Given the description of an element on the screen output the (x, y) to click on. 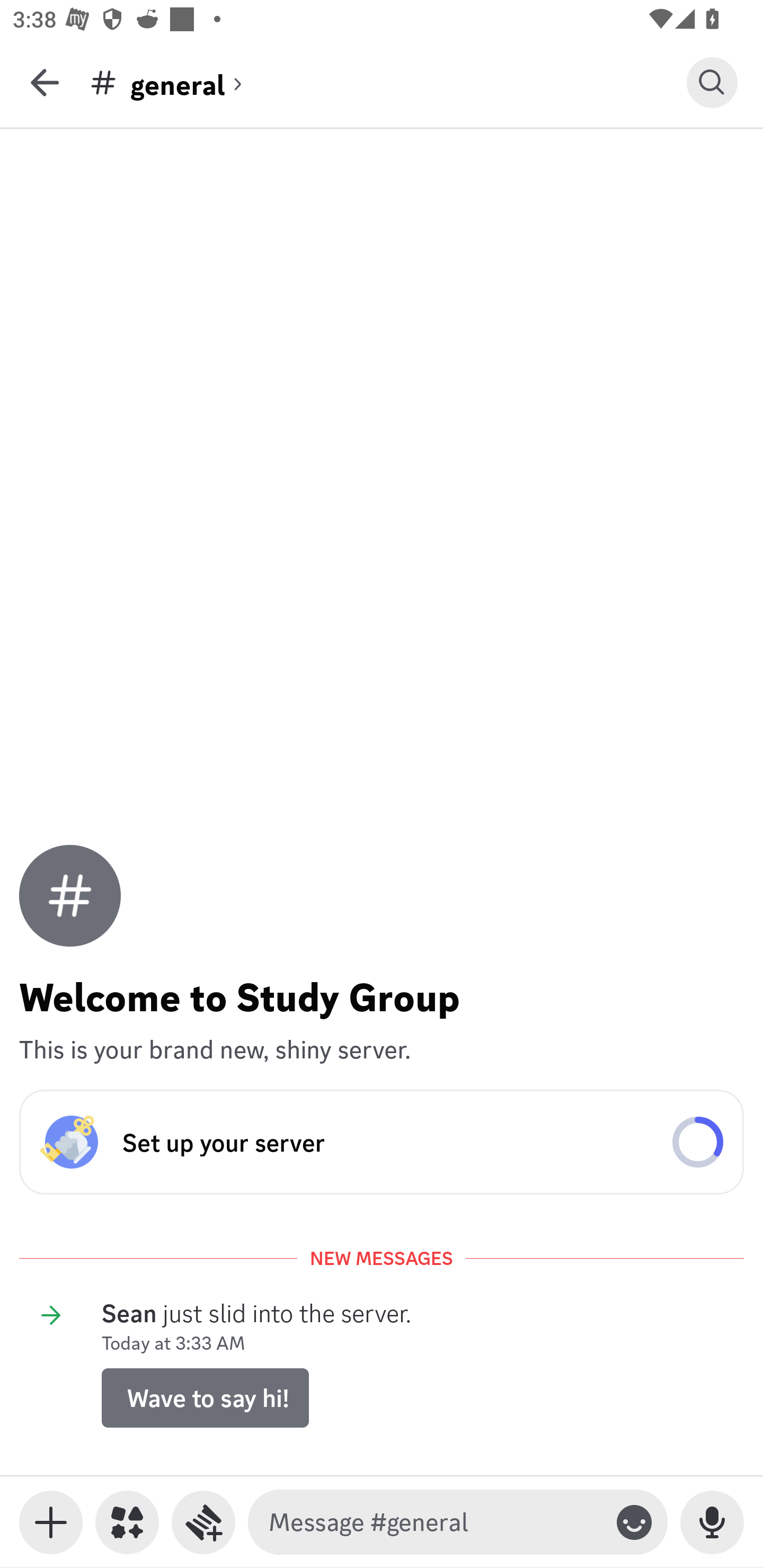
general (channel) general general (channel) (387, 82)
Back (44, 82)
Search (711, 82)
Set up your server (381, 1141)
Wave to say hi! (205, 1397)
Toggle media keyboard (50, 1522)
Apps (126, 1522)
Thread (203, 1522)
Record Voice Message (711, 1522)
Message #general (433, 1522)
Toggle emoji keyboard (634, 1522)
